Given the description of an element on the screen output the (x, y) to click on. 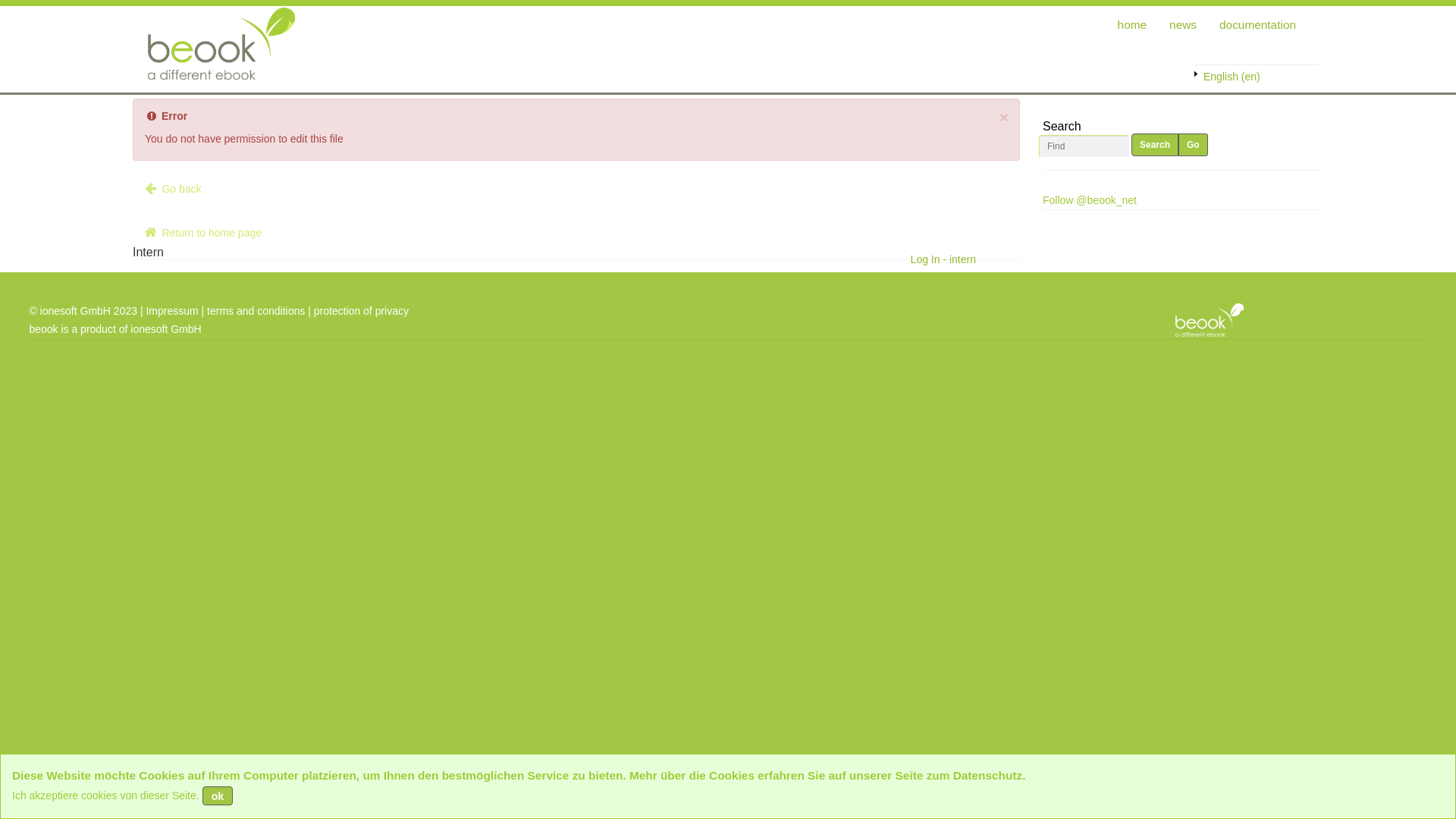
news Element type: text (1182, 24)
ionesoft GmbH Element type: text (165, 329)
ok Element type: text (217, 795)
Search Element type: text (1154, 144)
Impressum Element type: text (171, 310)
Go Element type: text (1193, 144)
protection of privacy Element type: text (360, 310)
Datenschutz Element type: text (987, 774)
Log In - intern Element type: text (942, 259)
Return to home page Element type: text (201, 232)
Follow @beook_net Element type: text (1089, 200)
Go back Element type: text (171, 188)
home Element type: text (1132, 24)
terms and conditions Element type: text (255, 310)
documentation Element type: text (1257, 24)
